Given the description of an element on the screen output the (x, y) to click on. 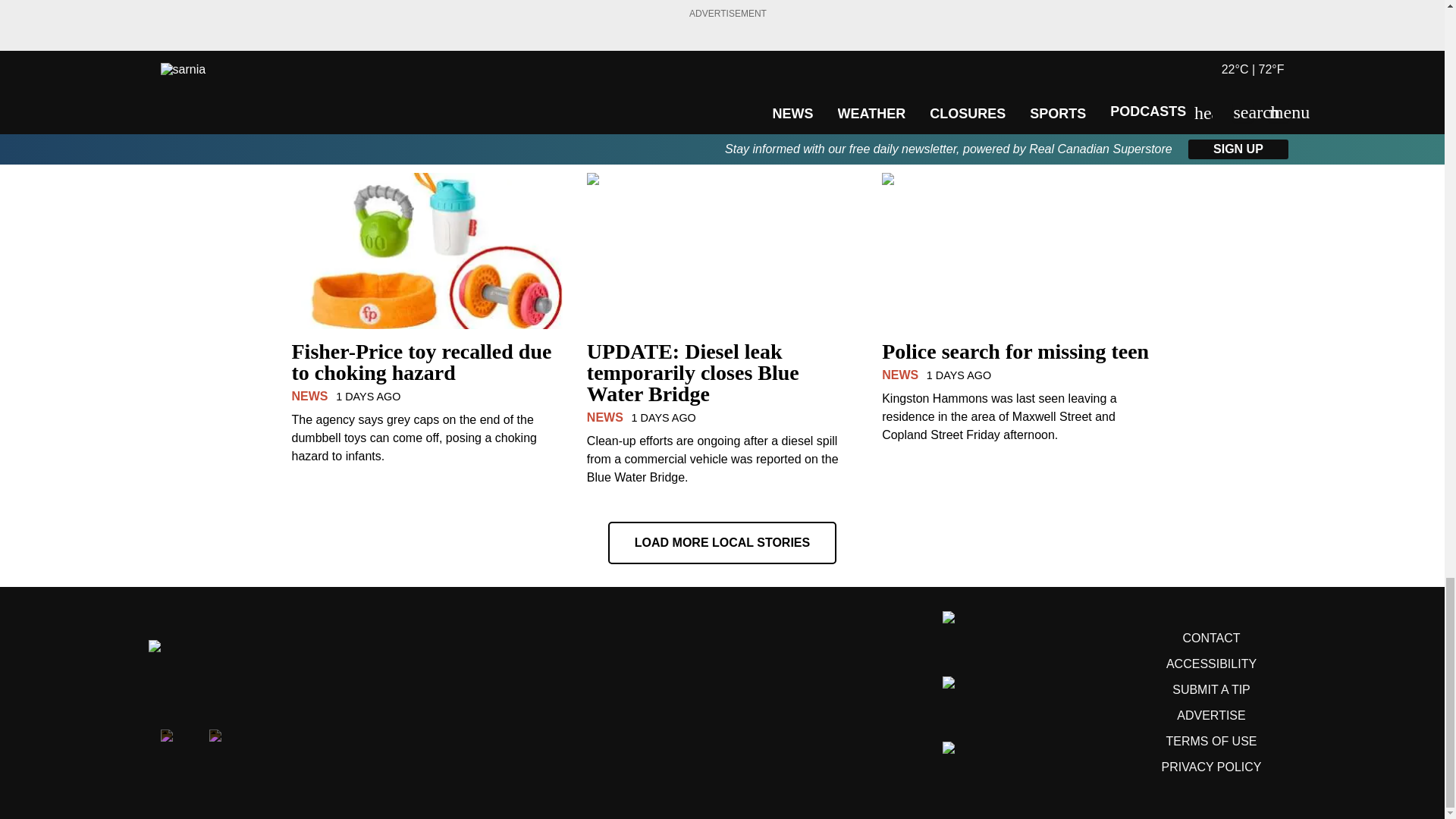
Scoreboard, Sept 1 (1017, 32)
SPORTS (906, 45)
Labour Day closures in Sarnia-Lambton (721, 42)
NEWS (604, 66)
NEWS (309, 66)
Sarnia police arrest suspended officer (426, 42)
